Given the description of an element on the screen output the (x, y) to click on. 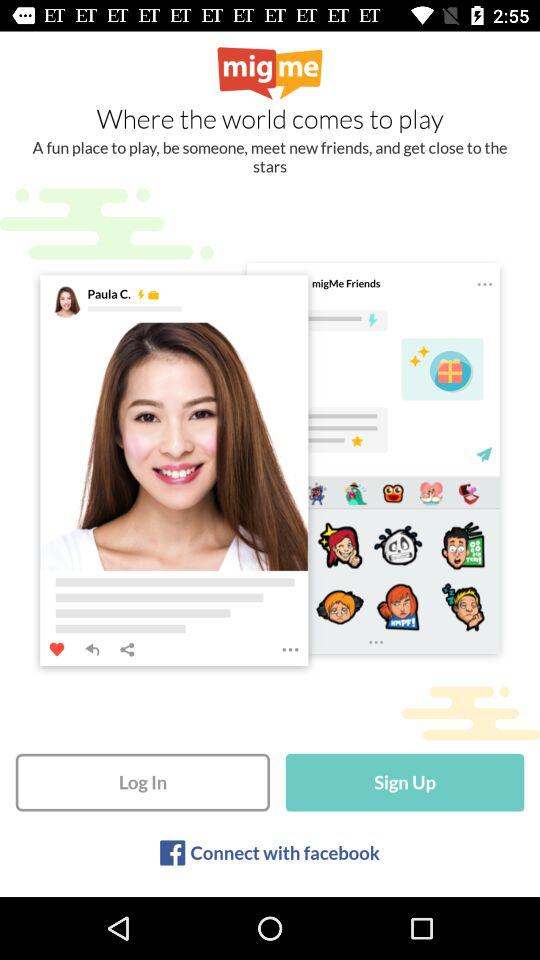
select item next to log in item (404, 782)
